Given the description of an element on the screen output the (x, y) to click on. 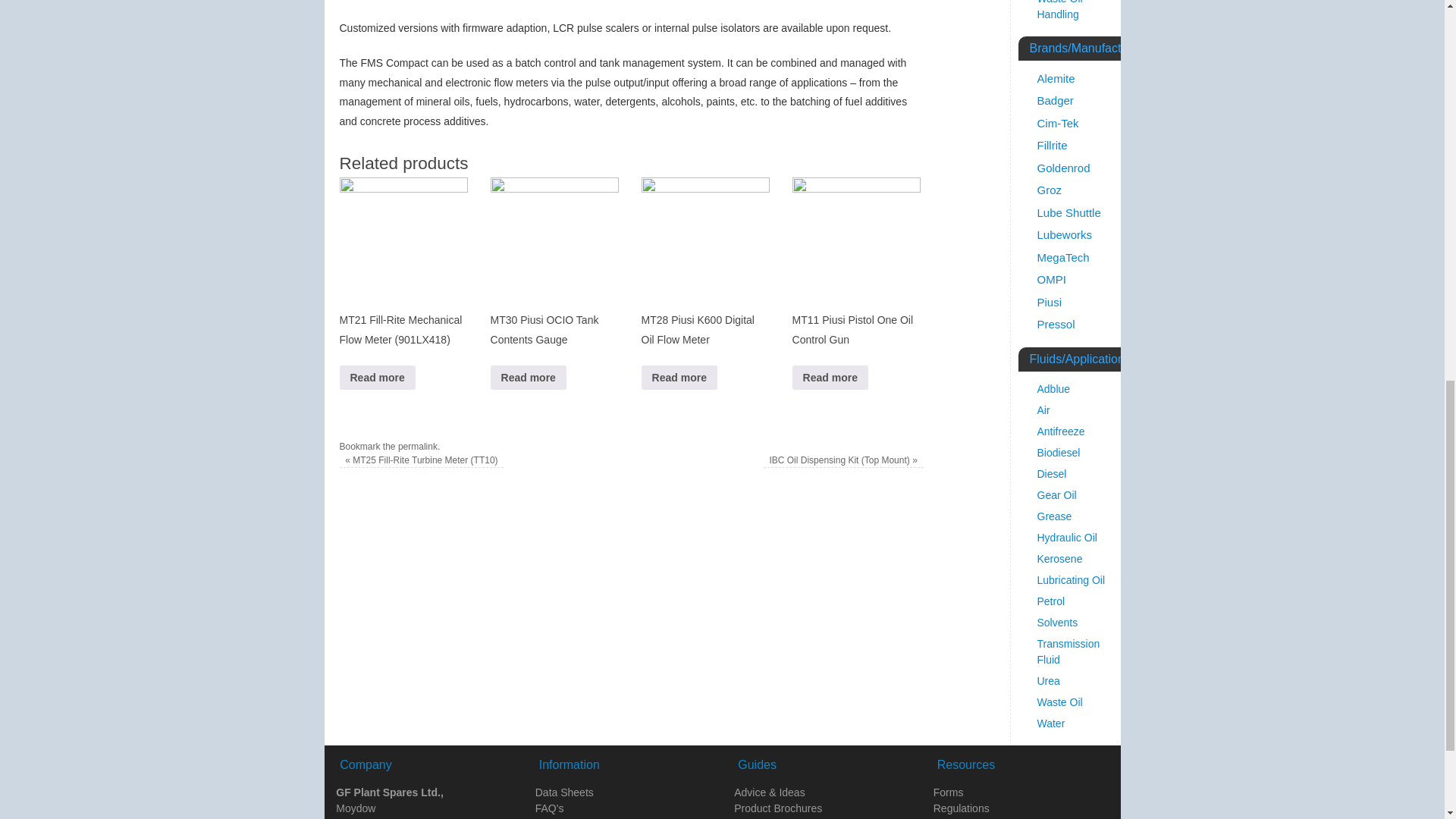
Read more (829, 377)
3 topics (1055, 100)
29 topics (1055, 78)
1 topic (1068, 212)
Read more (679, 377)
13 topics (1051, 144)
Read more (528, 377)
permalink (417, 446)
10 topics (1064, 234)
Read more (376, 377)
13 topics (1057, 123)
2 topics (1049, 189)
1 topic (1063, 167)
